Given the description of an element on the screen output the (x, y) to click on. 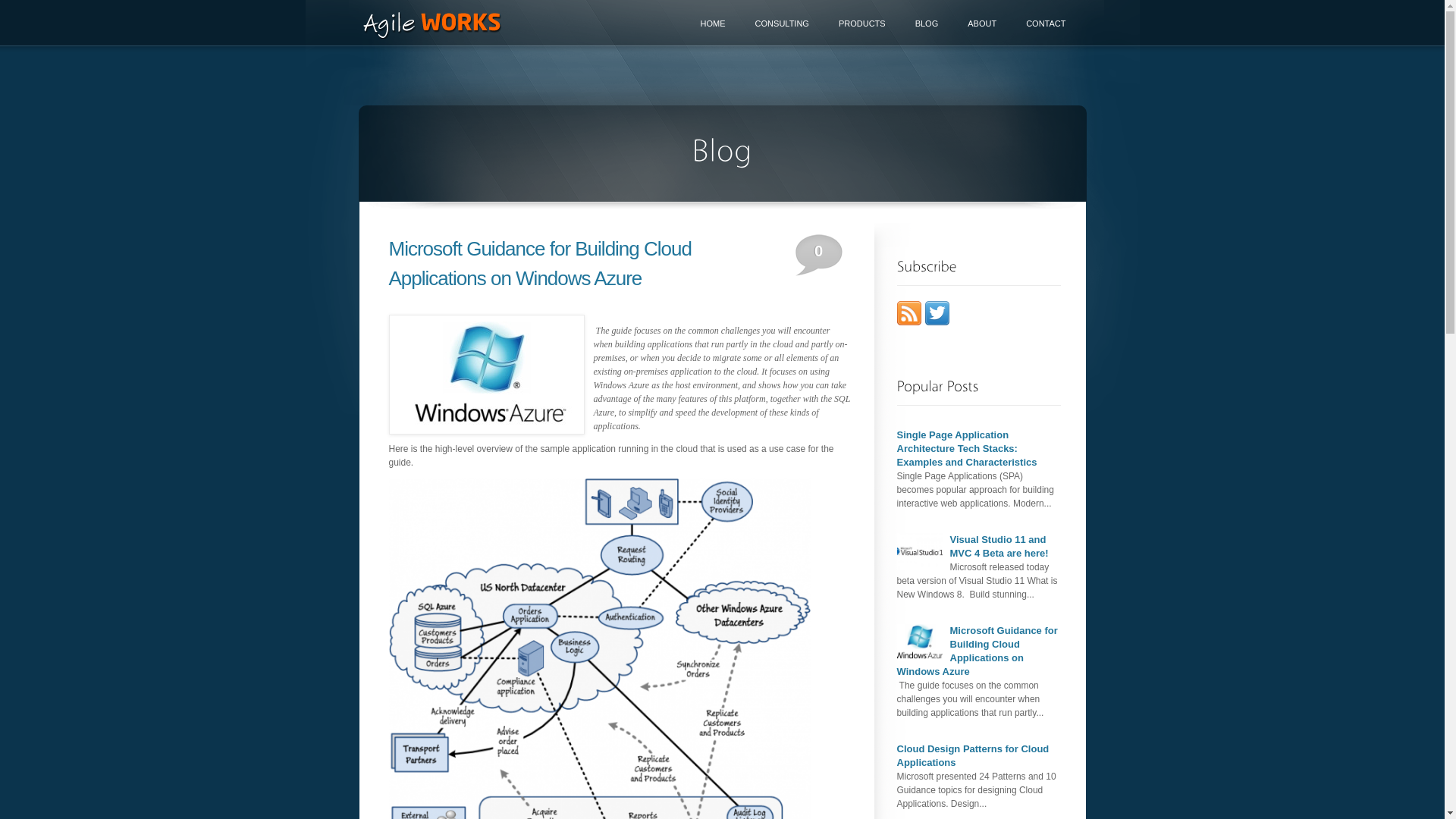
CONSULTING Element type: text (782, 23)
CONTACT Element type: text (1045, 23)
Visual Studio 11 and MVC 4 Beta are here! Element type: text (998, 545)
PRODUCTS Element type: text (861, 23)
Follow AndriySolovey on Twitter Element type: hover (937, 321)
BLOG Element type: text (926, 23)
ABOUT Element type: text (981, 23)
Subscribe to posts via RSS feed Element type: hover (908, 321)
Cloud Design Patterns for Cloud Applications Element type: text (972, 755)
HOME Element type: text (712, 23)
